Given the description of an element on the screen output the (x, y) to click on. 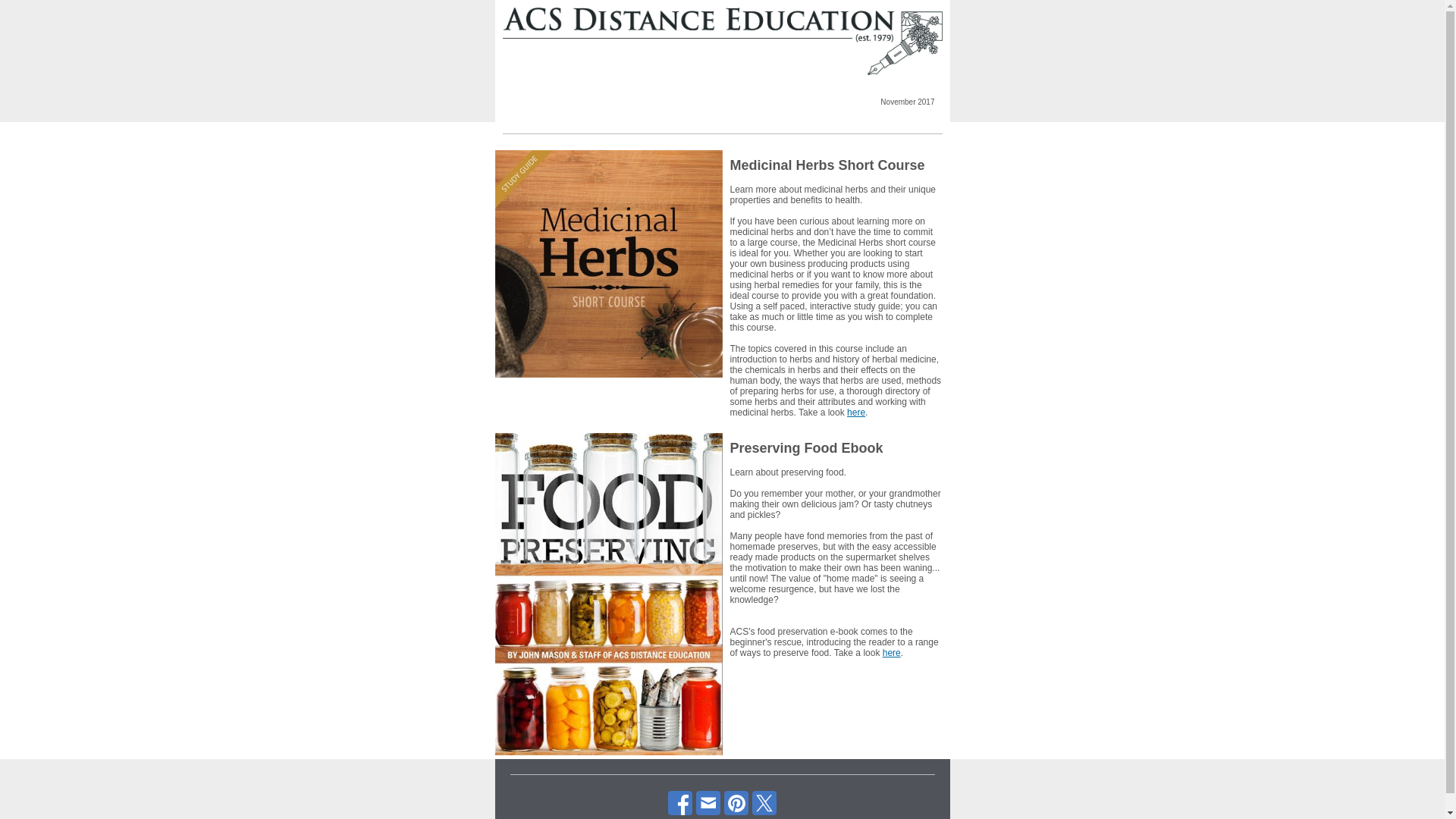
Twitter Element type: hover (764, 802)
Image Element type: hover (607, 594)
Facebook Element type: hover (680, 802)
Image Element type: hover (721, 41)
here Element type: text (891, 652)
Pinterest Element type: hover (736, 802)
E-Mail Element type: hover (708, 802)
here Element type: text (856, 412)
Image Element type: hover (607, 263)
